Given the description of an element on the screen output the (x, y) to click on. 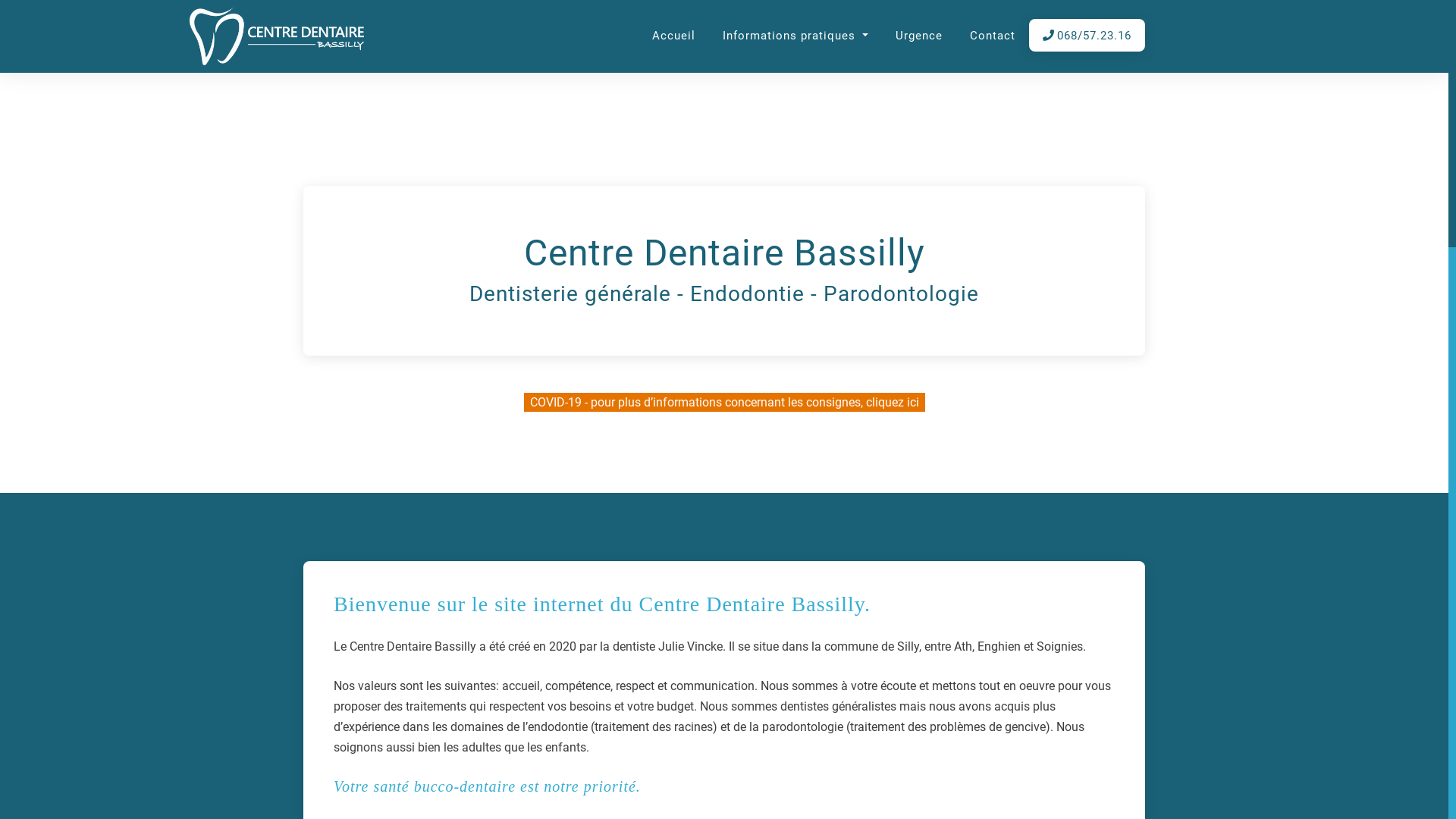
Contact Element type: text (992, 36)
068/57.23.16 Element type: text (1086, 36)
Informations pratiques Element type: text (795, 36)
Urgence Element type: text (918, 36)
Accueil Element type: text (673, 36)
